Given the description of an element on the screen output the (x, y) to click on. 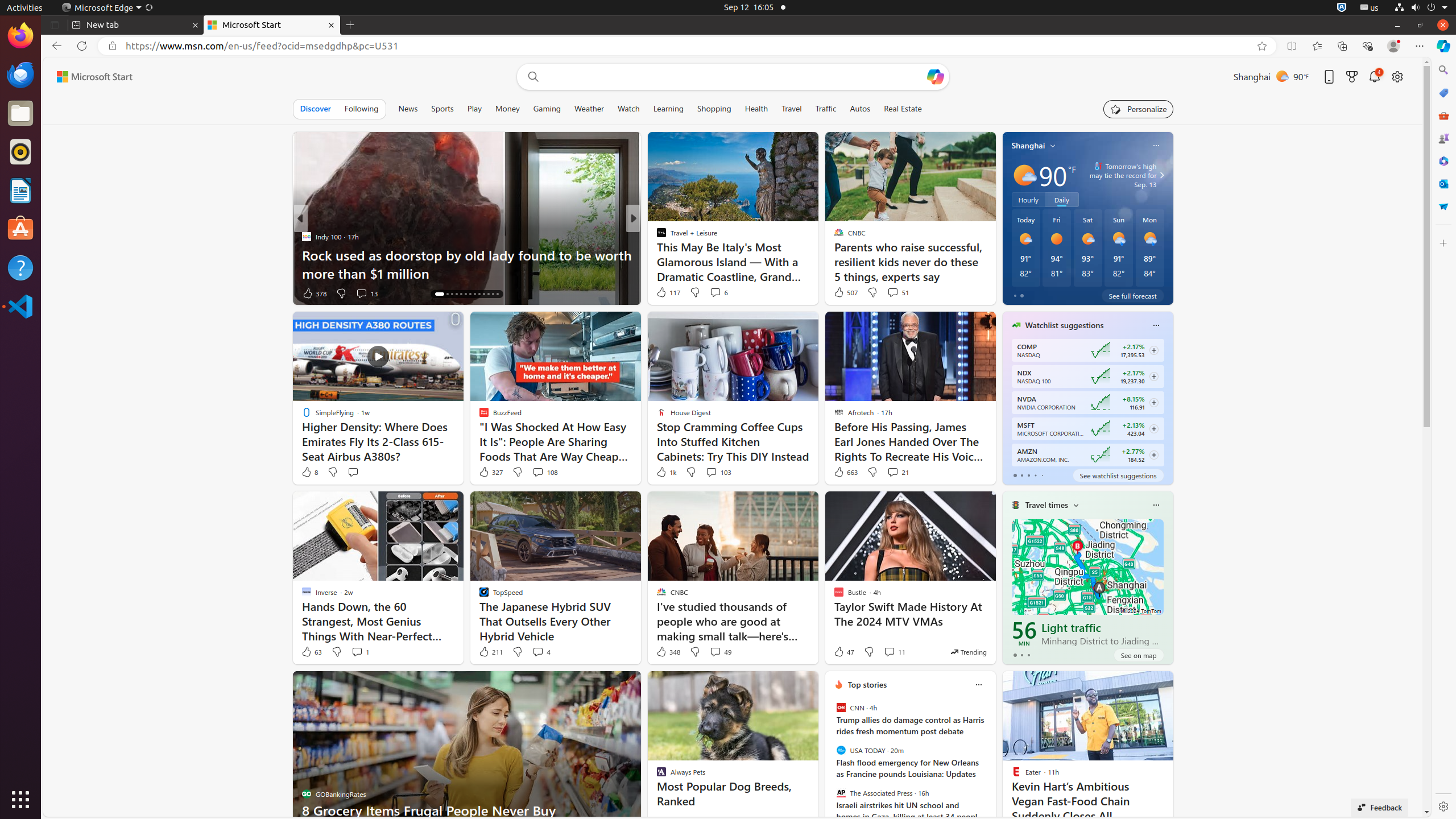
previous Element type: push-button (830, 757)
Weather forecast Sun High temperature 91° Low temperature 82° Element type: link (1118, 247)
Close tab Element type: push-button (195, 25)
Top stories Element type: link (867, 684)
Weather Element type: link (589, 108)
